Given the description of an element on the screen output the (x, y) to click on. 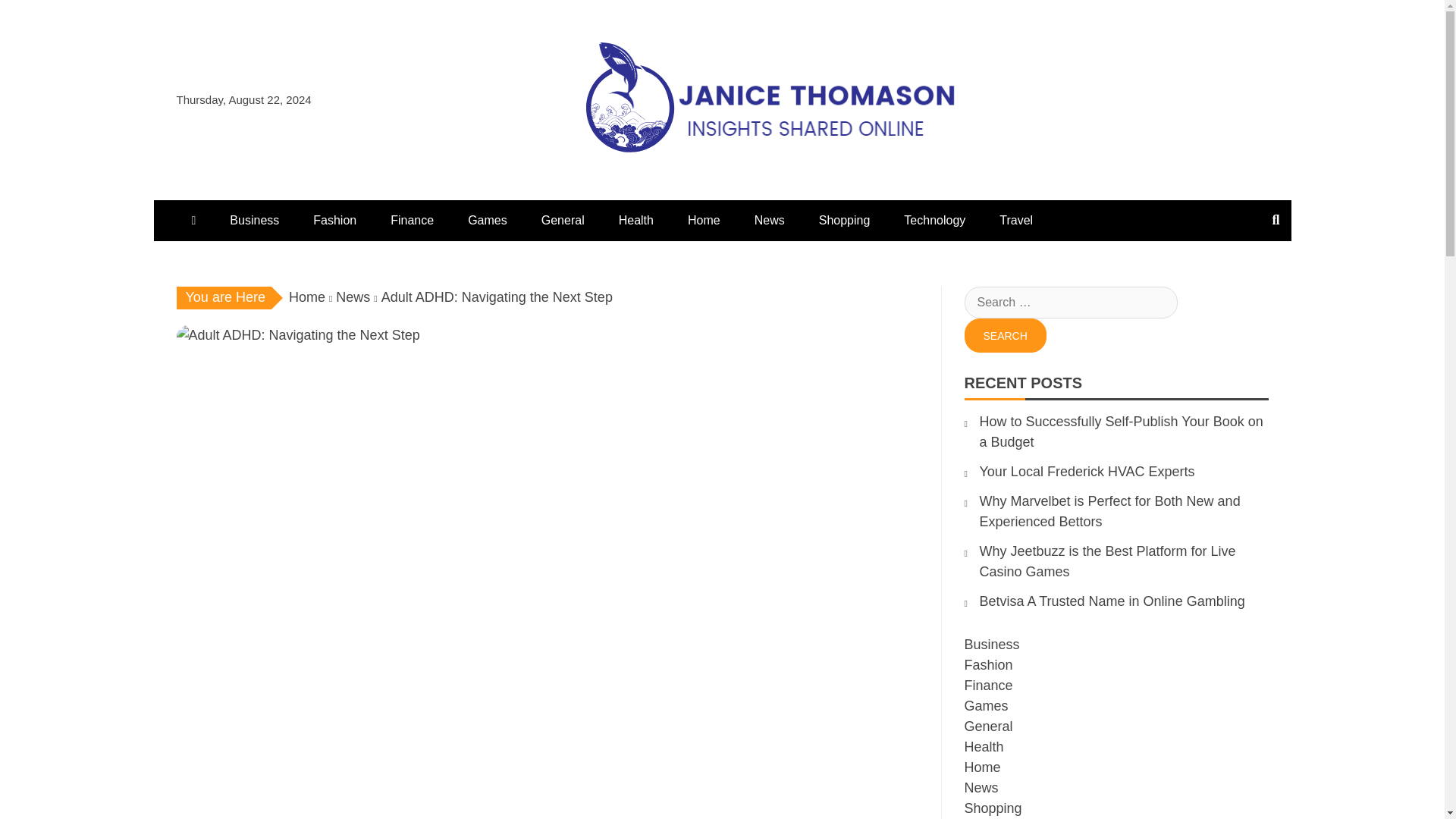
News (352, 296)
Business (254, 219)
Search (1004, 335)
Fashion (334, 219)
Search (1004, 335)
Shopping (844, 219)
Games (487, 219)
Search (1004, 335)
News (769, 219)
Travel (1016, 219)
